Given the description of an element on the screen output the (x, y) to click on. 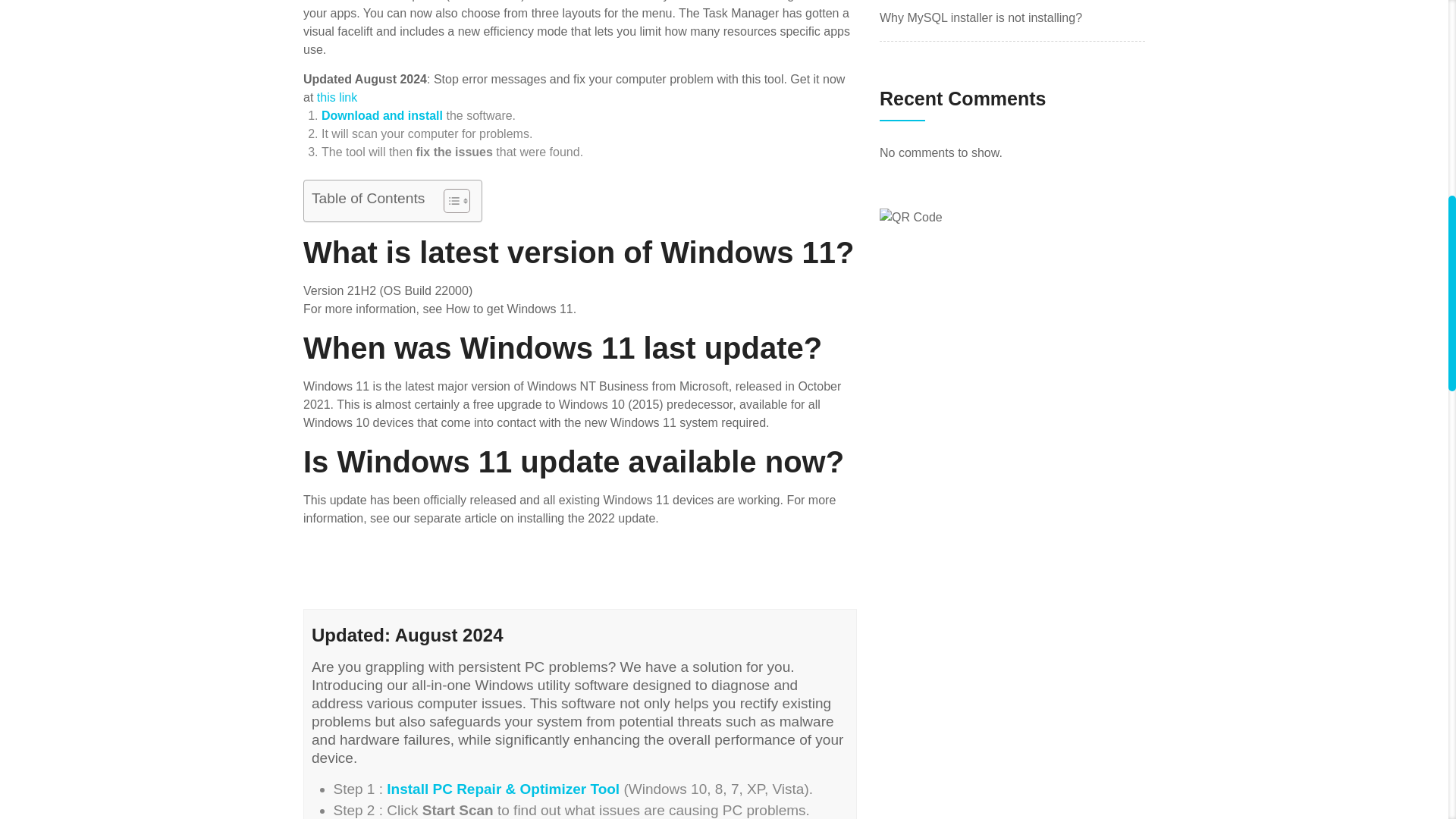
this link (336, 97)
Download and install (381, 115)
Why MySQL installer is not installing? (980, 17)
